Given the description of an element on the screen output the (x, y) to click on. 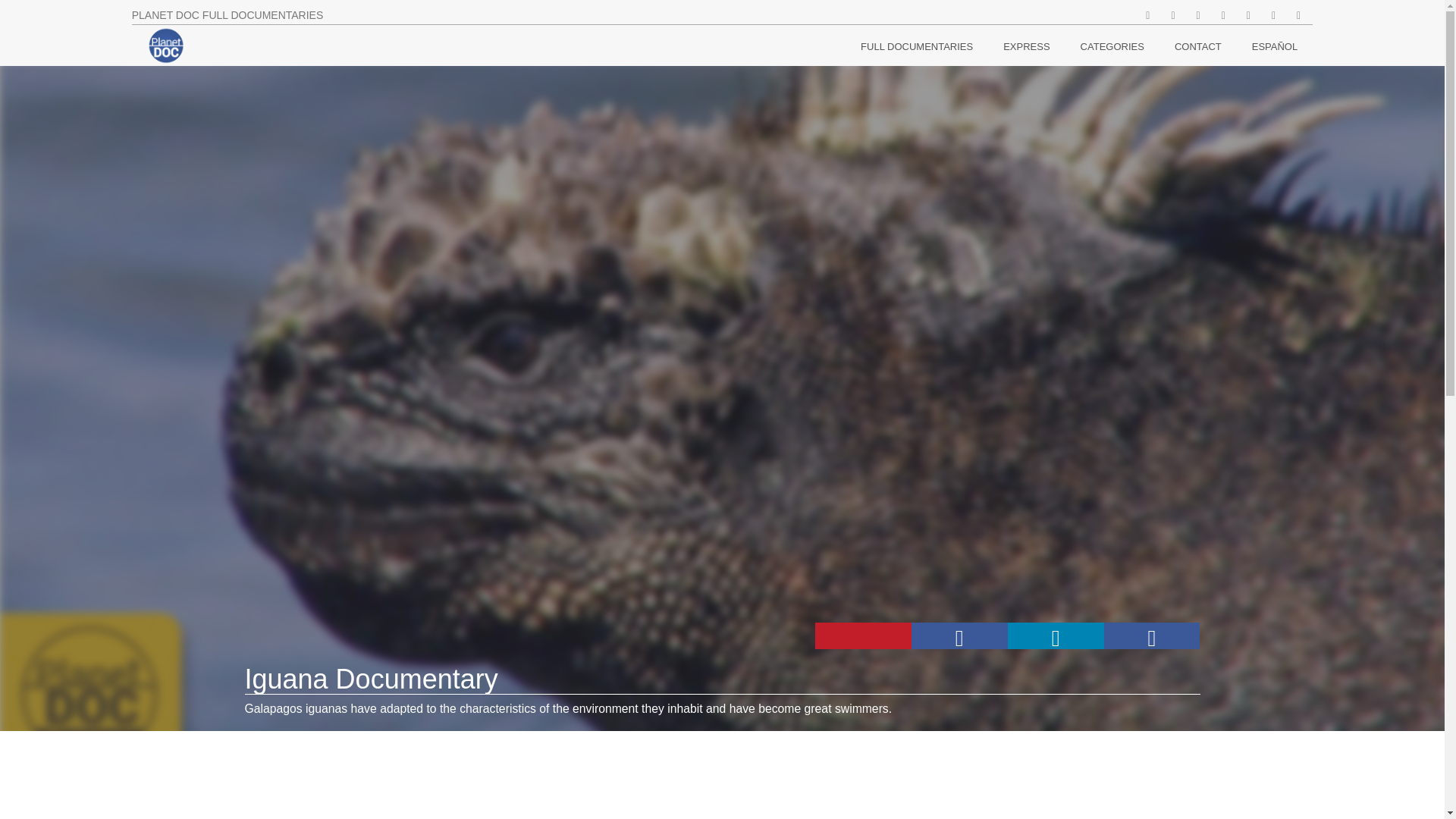
FULL DOCUMENTARIES (916, 46)
CATEGORIES (1112, 46)
CONTACT (1197, 46)
Advertisement (706, 778)
EXPRESS (1026, 46)
